Given the description of an element on the screen output the (x, y) to click on. 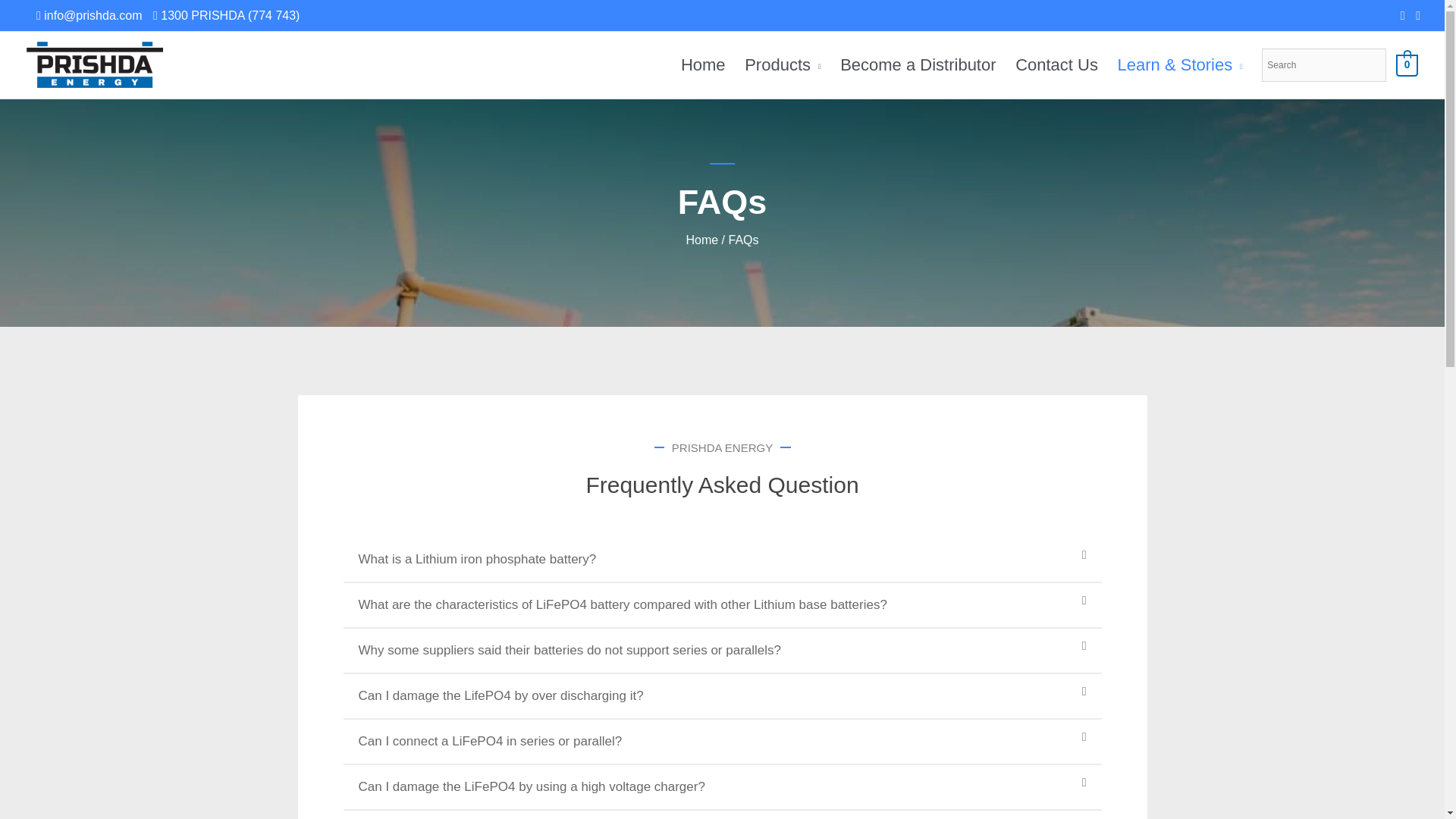
Contact Us (1056, 64)
Become a Distributor (917, 64)
Home (703, 64)
Products (782, 64)
